Given the description of an element on the screen output the (x, y) to click on. 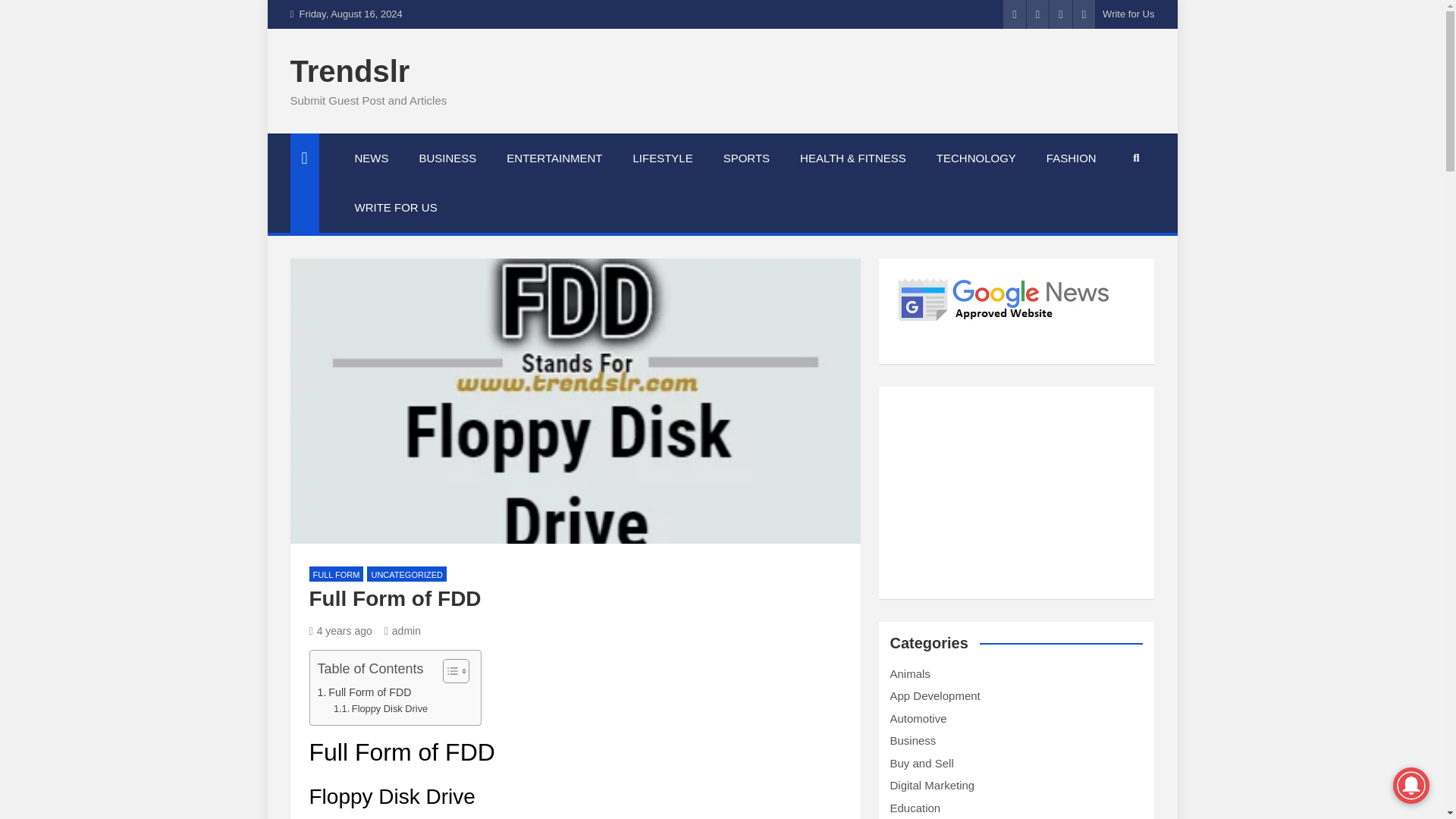
SPORTS (745, 158)
NEWS (371, 158)
Full Form of FDD (340, 630)
Write for Us (1128, 13)
FULL FORM (336, 574)
Advertisement (1015, 493)
UNCATEGORIZED (406, 574)
Floppy Disk Drive (380, 709)
TECHNOLOGY (975, 158)
admin (402, 630)
